Given the description of an element on the screen output the (x, y) to click on. 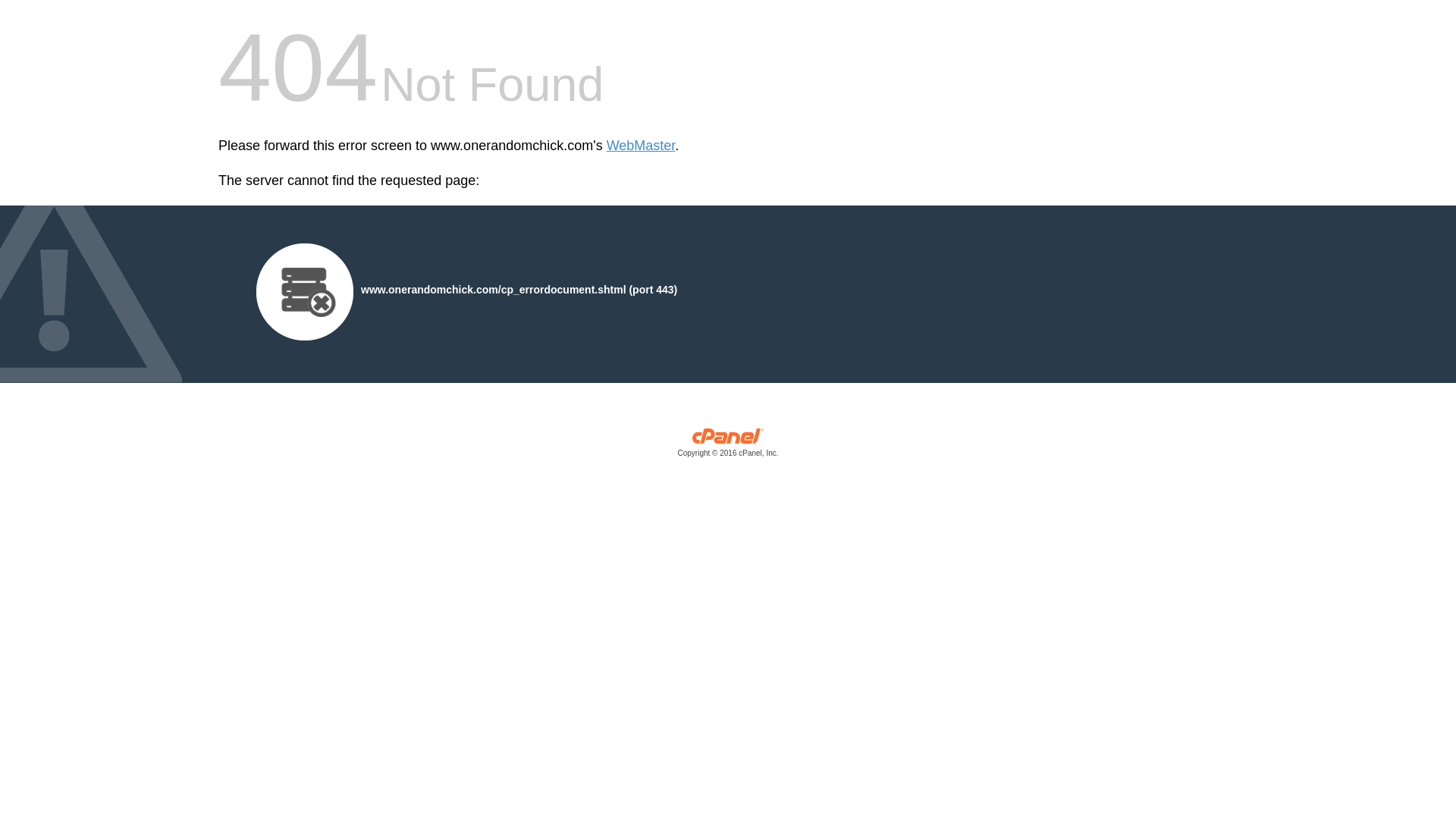
cPanel, Inc. (727, 446)
WebMaster (641, 145)
